Given the description of an element on the screen output the (x, y) to click on. 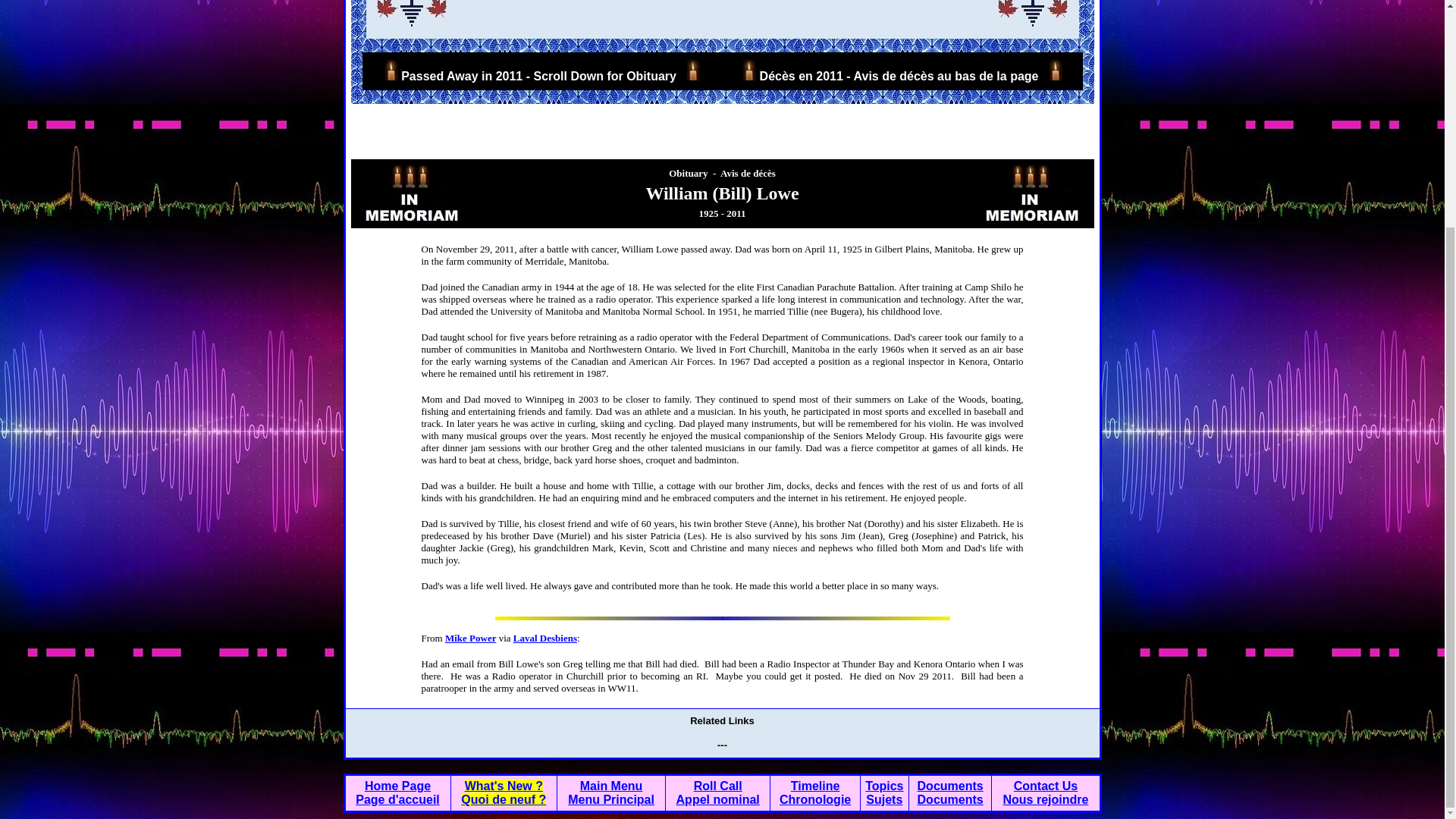
Timeline (815, 785)
Main Menu (611, 785)
Documents (950, 785)
Nous rejoindre (1046, 799)
Topics (883, 785)
Menu Principal (610, 799)
What's New ? (503, 785)
Sujets (884, 799)
Appel nominal (718, 799)
Quoi de neuf ? (503, 799)
Chronologie (814, 799)
Mike Power (470, 637)
Page d'accueil (397, 799)
Laval Desbiens (544, 637)
Roll Call (718, 785)
